Given the description of an element on the screen output the (x, y) to click on. 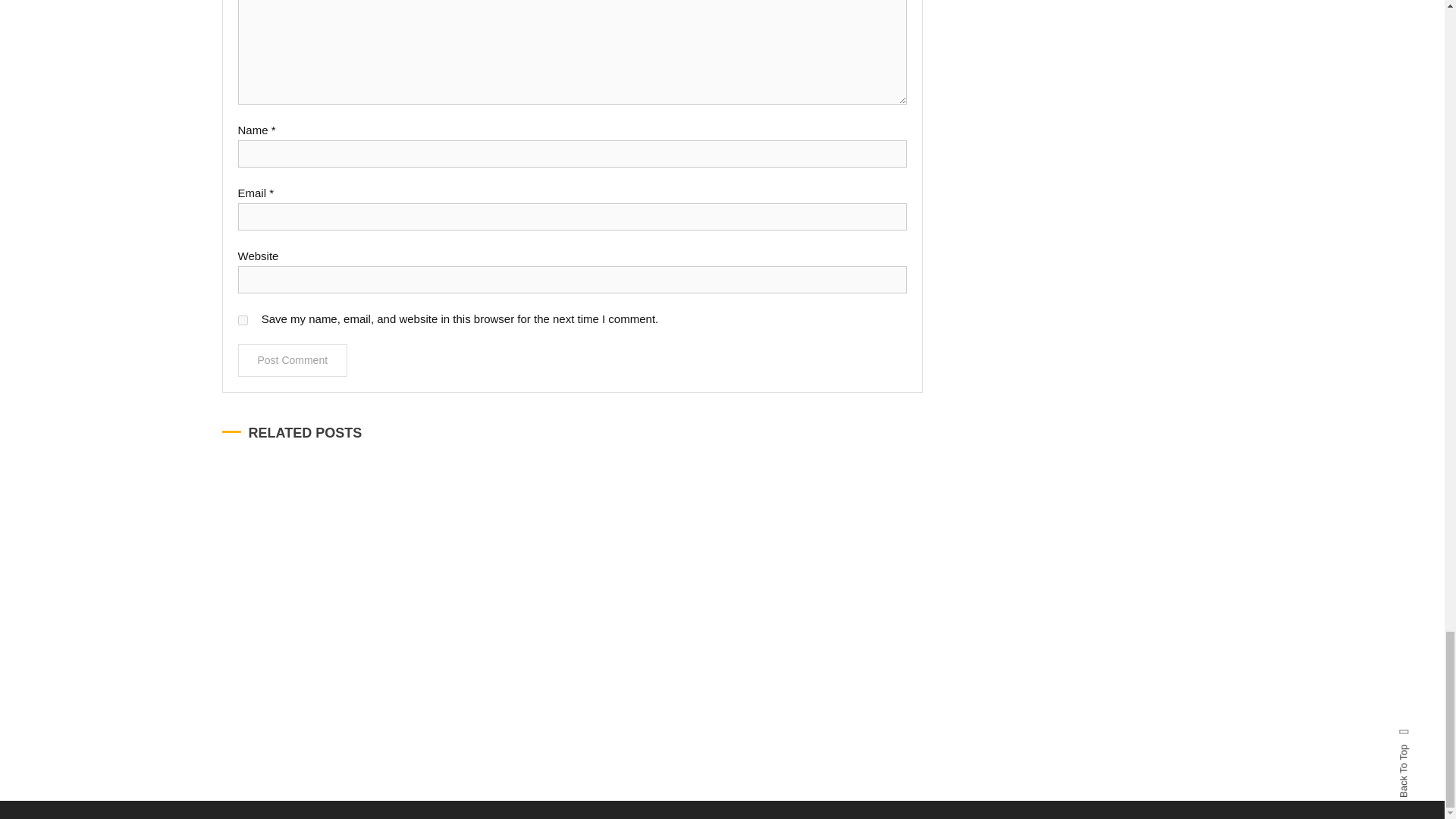
yes (242, 320)
Post Comment (292, 359)
Post Comment (292, 359)
